Given the description of an element on the screen output the (x, y) to click on. 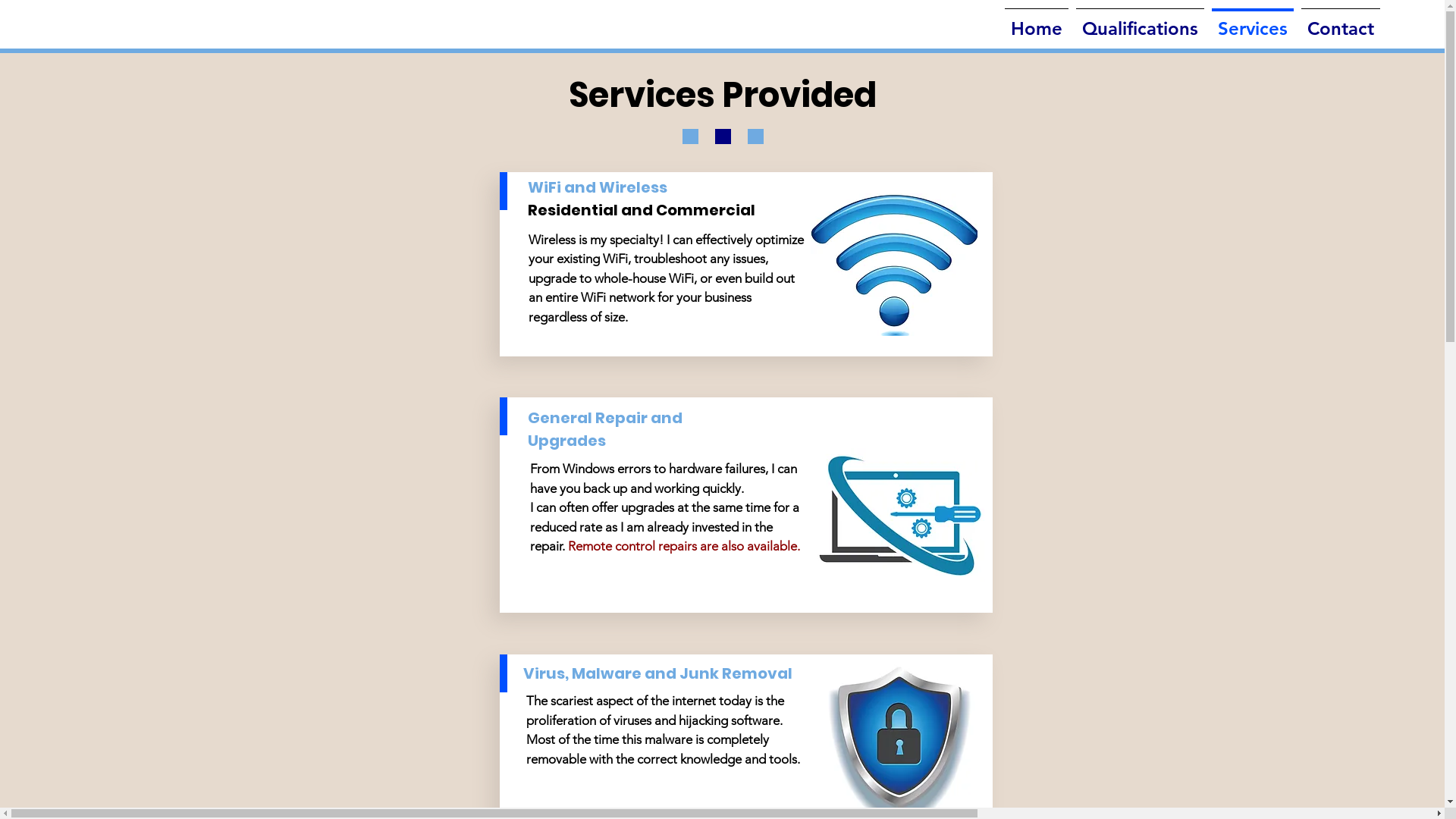
Contact Element type: text (1340, 21)
Home Element type: text (1036, 21)
Qualifications Element type: text (1140, 21)
Services Element type: text (1252, 21)
